Given the description of an element on the screen output the (x, y) to click on. 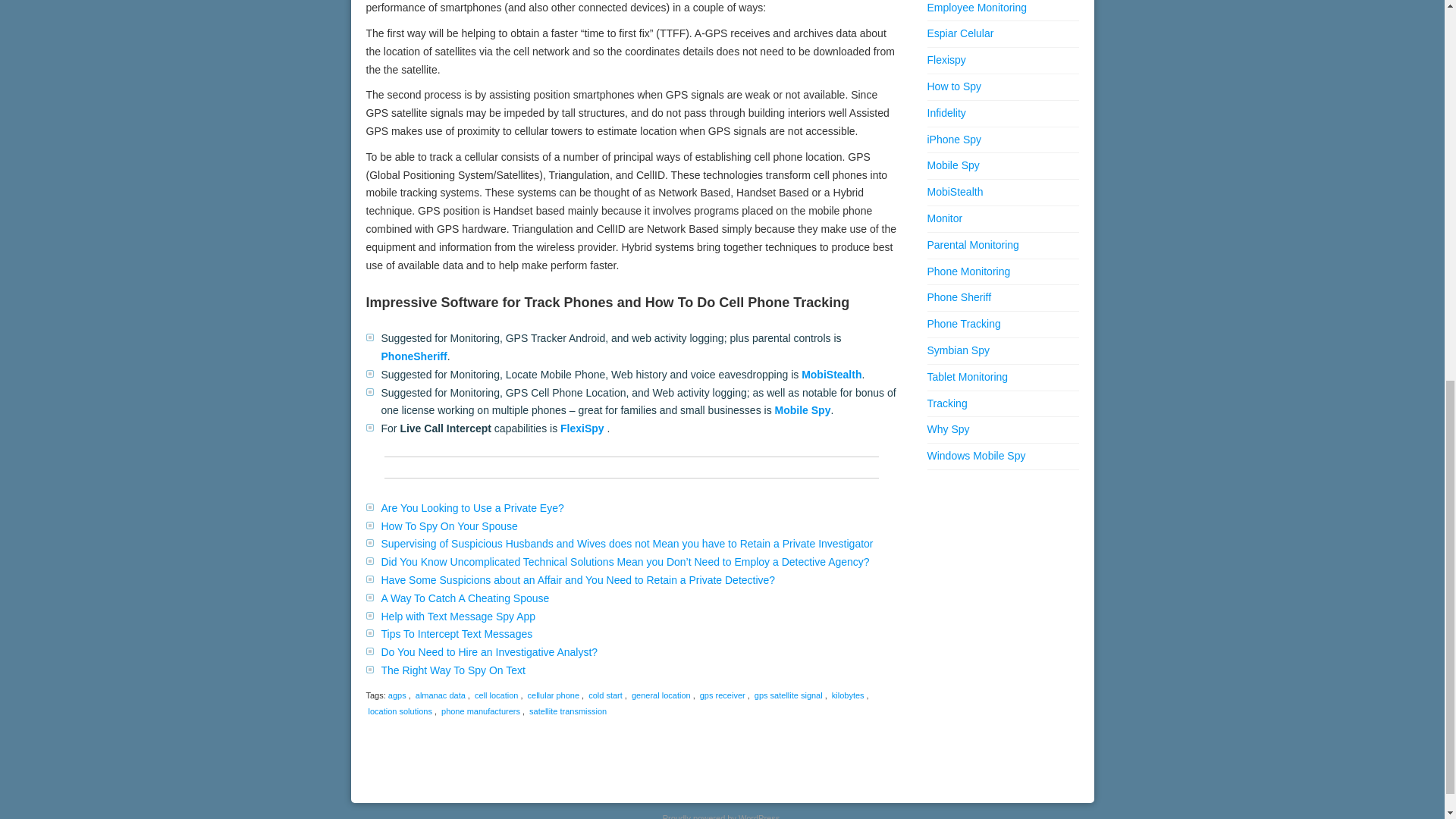
MobiStealth (831, 374)
FlexiSpy (582, 428)
Do You Need to Hire an Investigative Analyst? (488, 652)
almanac data (440, 694)
Mobile Spy (802, 410)
Help with Text Message Spy App (457, 616)
Tips To Intercept Text Messages (456, 633)
A Way To Catch A Cheating Spouse (464, 598)
agps (397, 694)
